Given the description of an element on the screen output the (x, y) to click on. 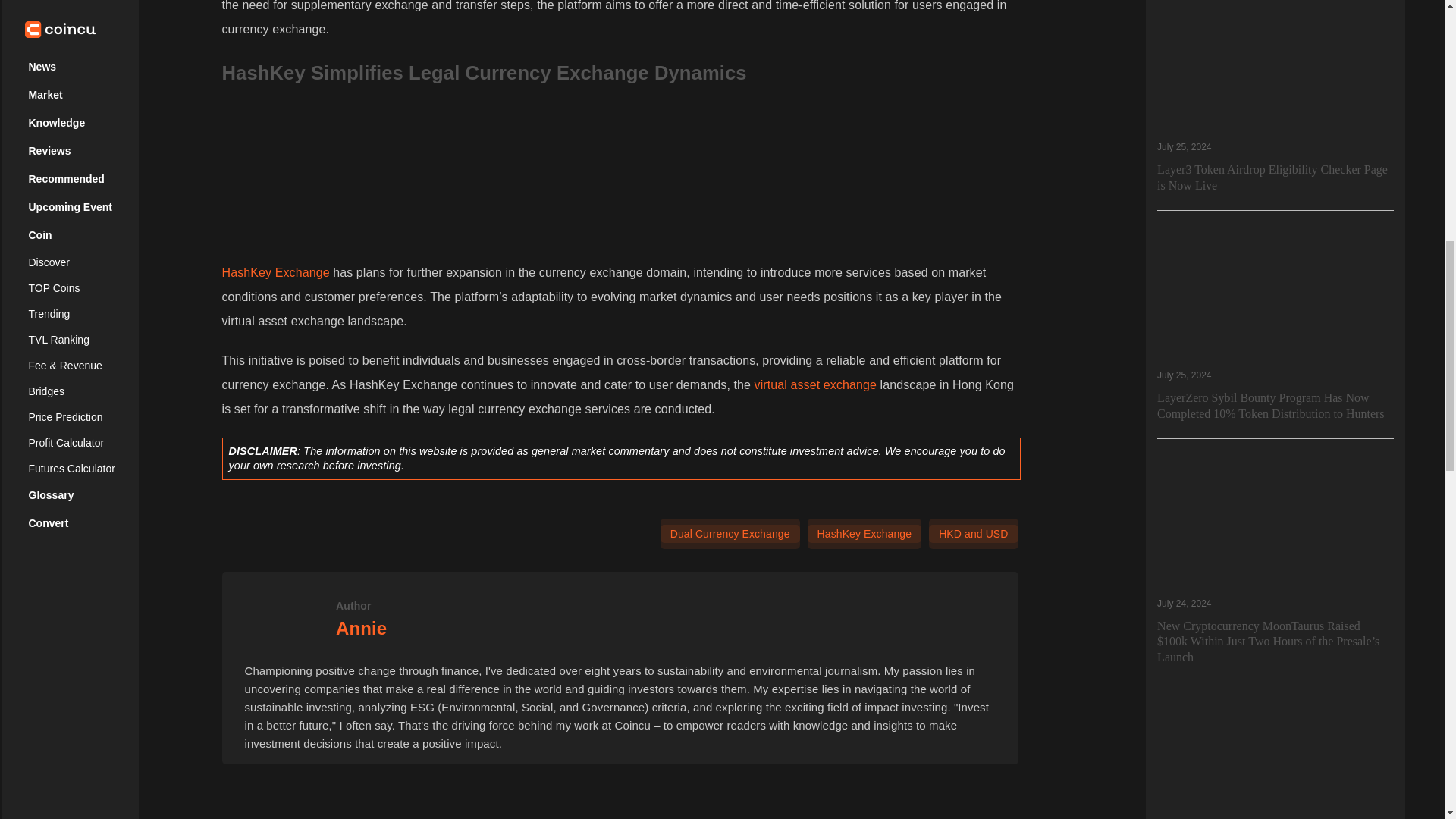
Layer3 Token Airdrop Eligibility Checker Page is Now Live 99 (1275, 65)
